Given the description of an element on the screen output the (x, y) to click on. 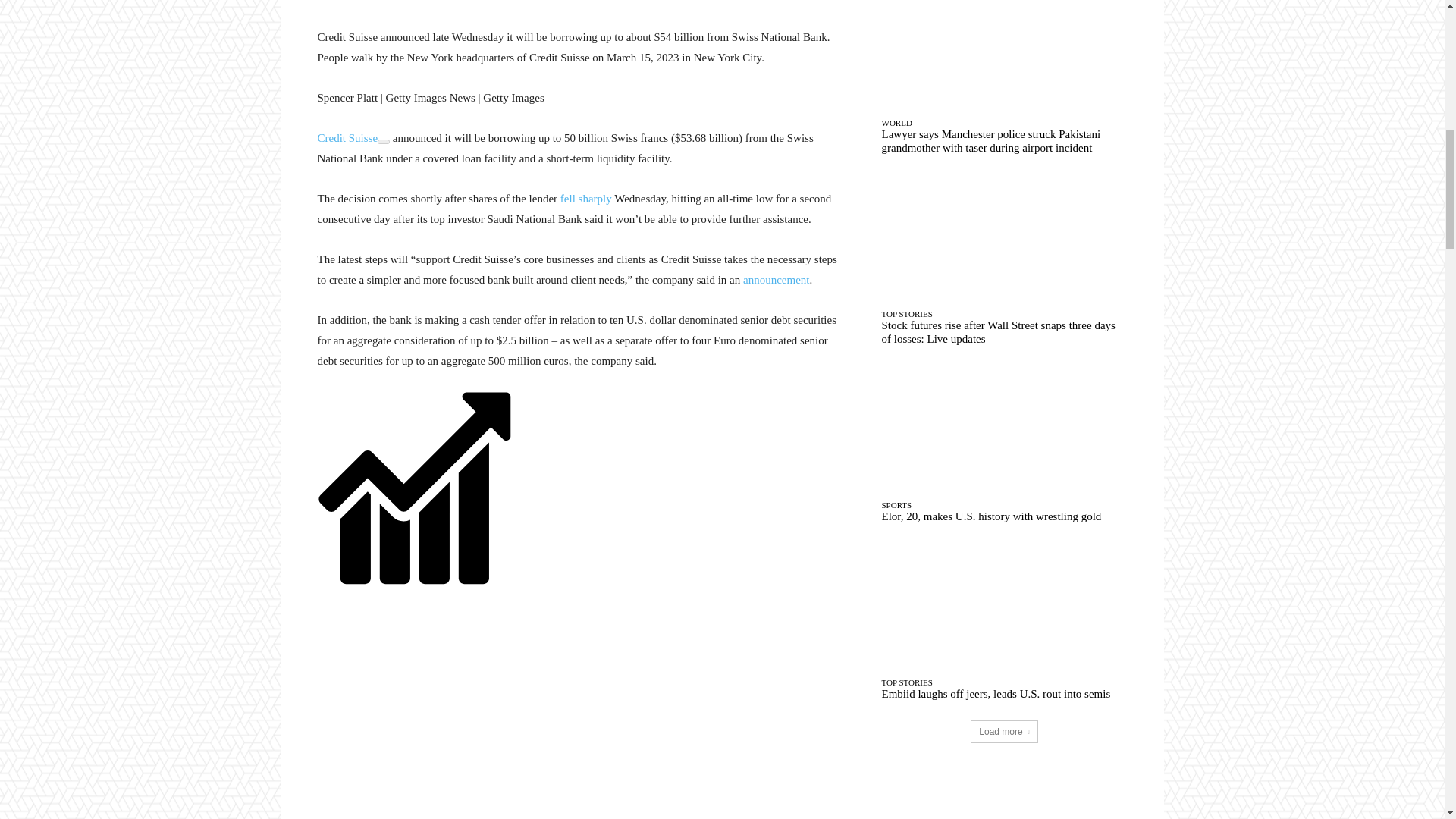
Stock Chart IconStock chart icon (414, 488)
Credit Suisse (347, 137)
Embedded Interactive Chart (580, 705)
